Given the description of an element on the screen output the (x, y) to click on. 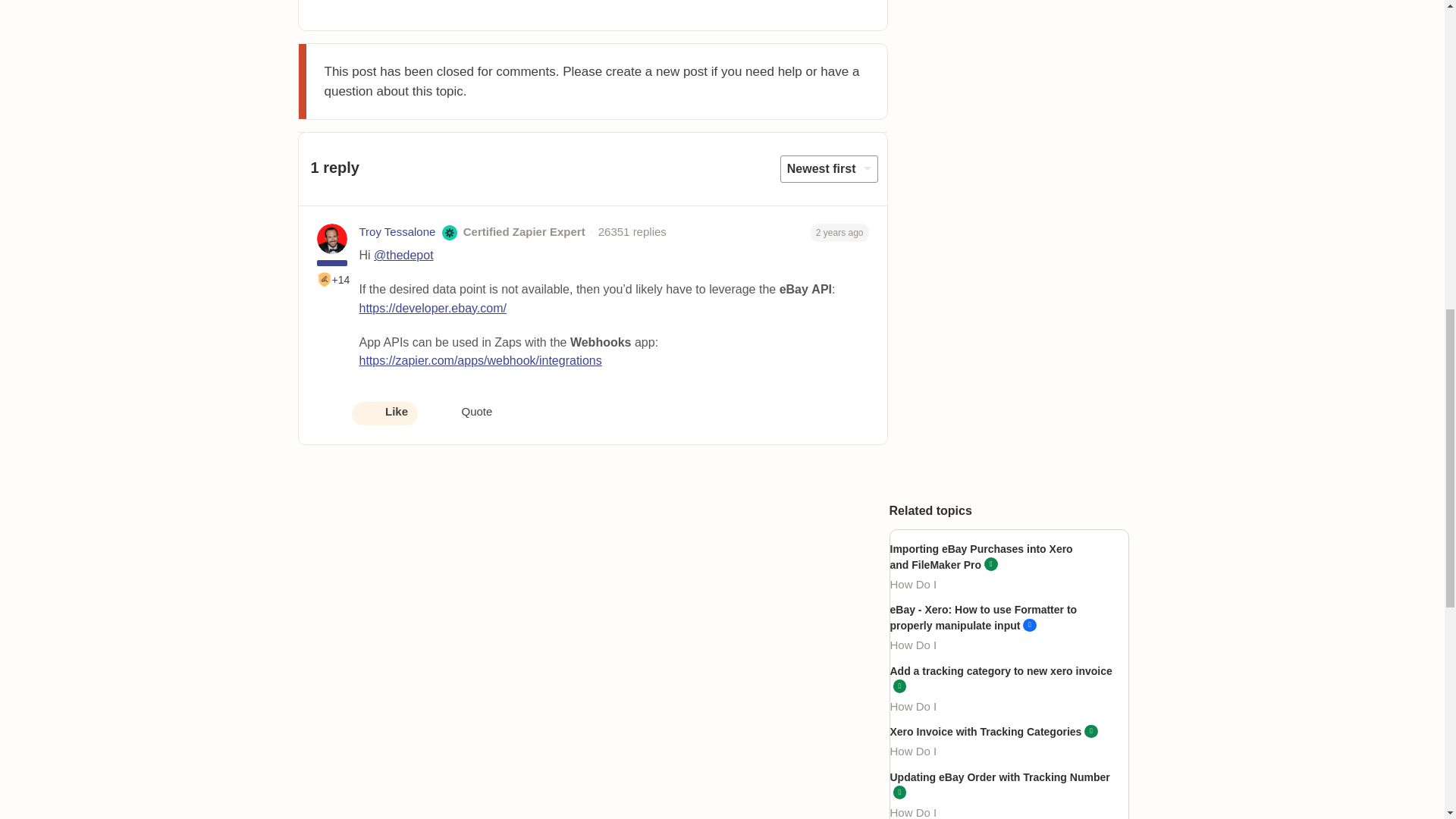
Troy Tessalone (397, 231)
First Best Answer (324, 279)
